Given the description of an element on the screen output the (x, y) to click on. 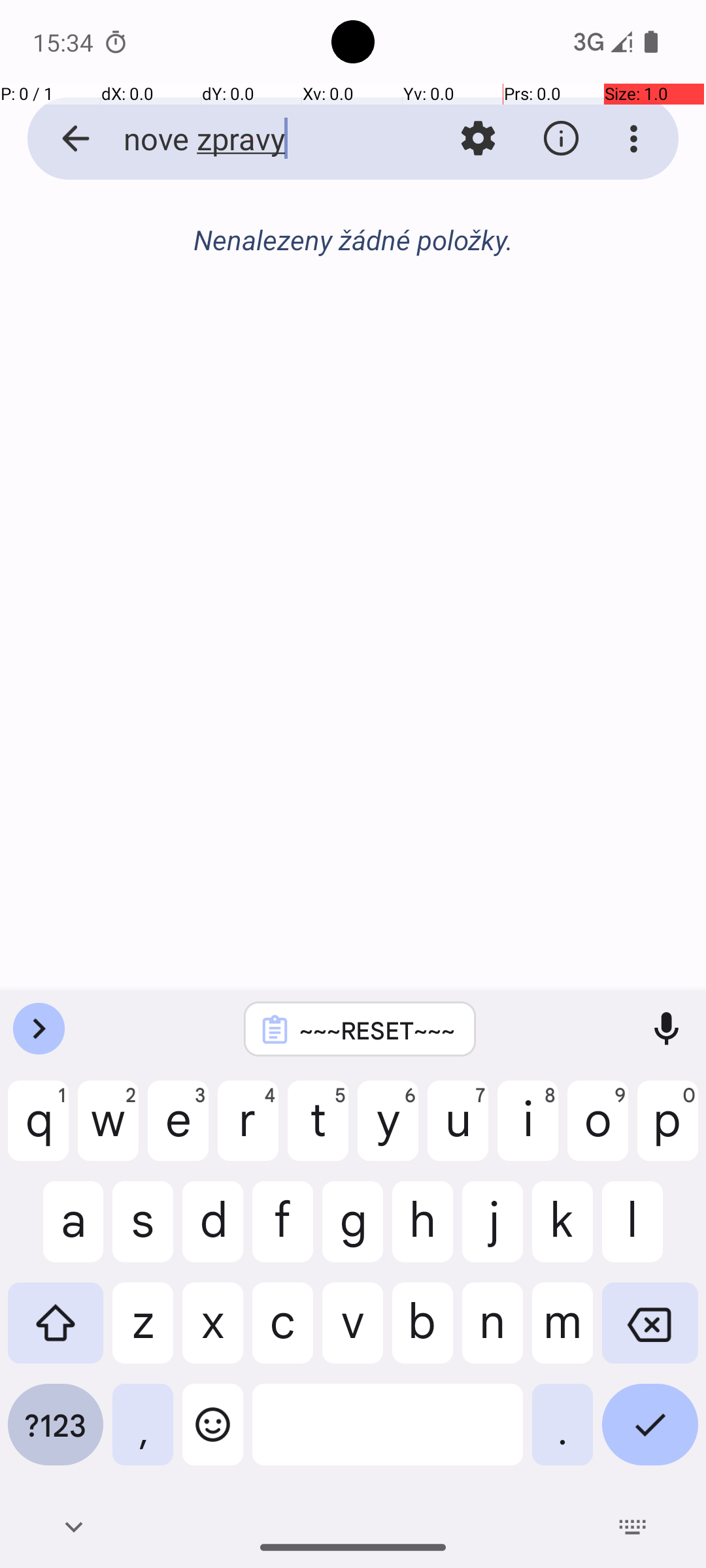
Nenalezeny žádné položky. Element type: android.widget.TextView (353, 239)
Zpět Element type: android.widget.ImageView (61, 138)
nove zpravy Element type: android.widget.EditText (252, 138)
O aplikaci Element type: android.widget.Button (560, 138)
Nebyly nalezeny žádné uložené konverzace Element type: android.widget.TextView (353, 246)
Zahajte konverzaci Element type: android.widget.TextView (352, 311)
